Given the description of an element on the screen output the (x, y) to click on. 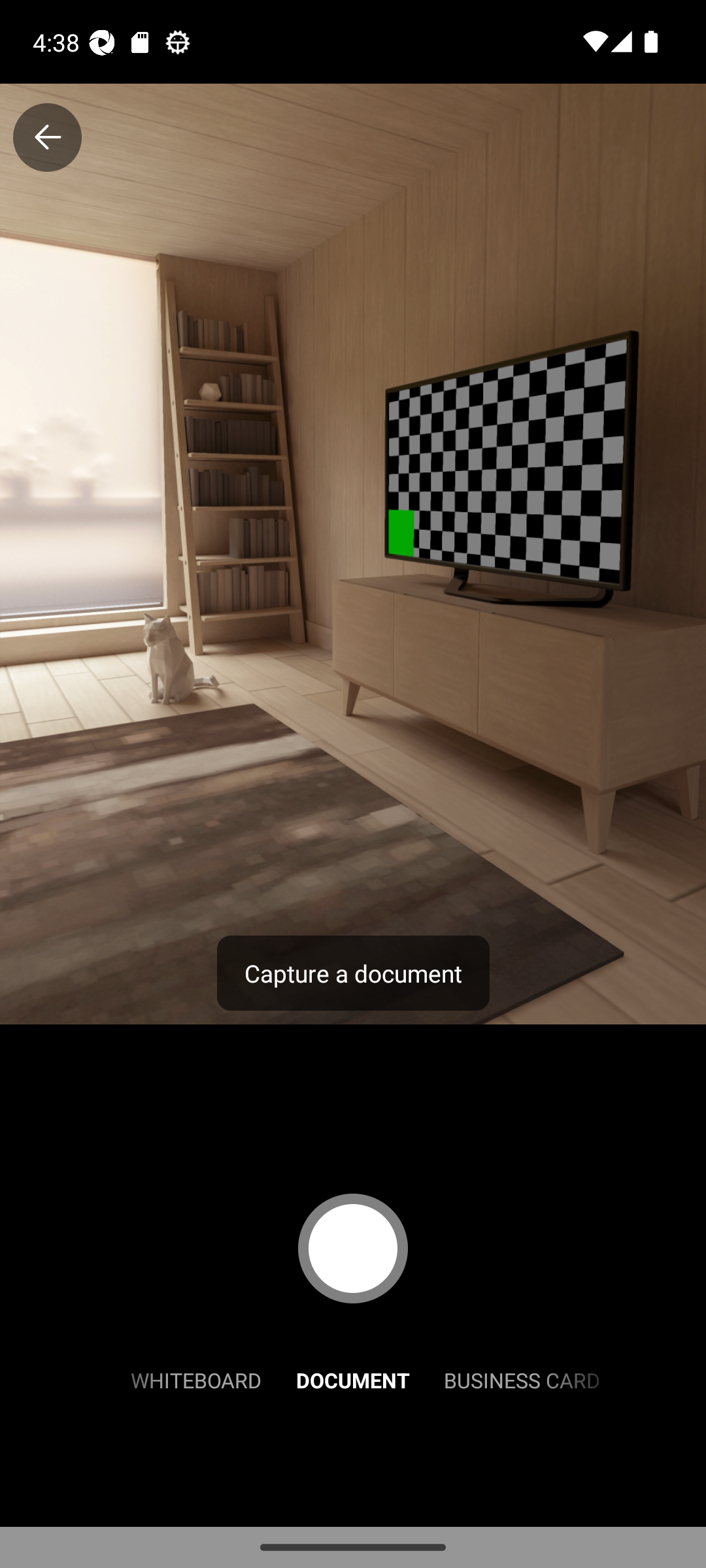
Close (47, 137)
Capture (352, 1248)
WHITEBOARD (196, 1379)
DOCUMENT (352, 1379)
BUSINESS CARD (521, 1379)
